Given the description of an element on the screen output the (x, y) to click on. 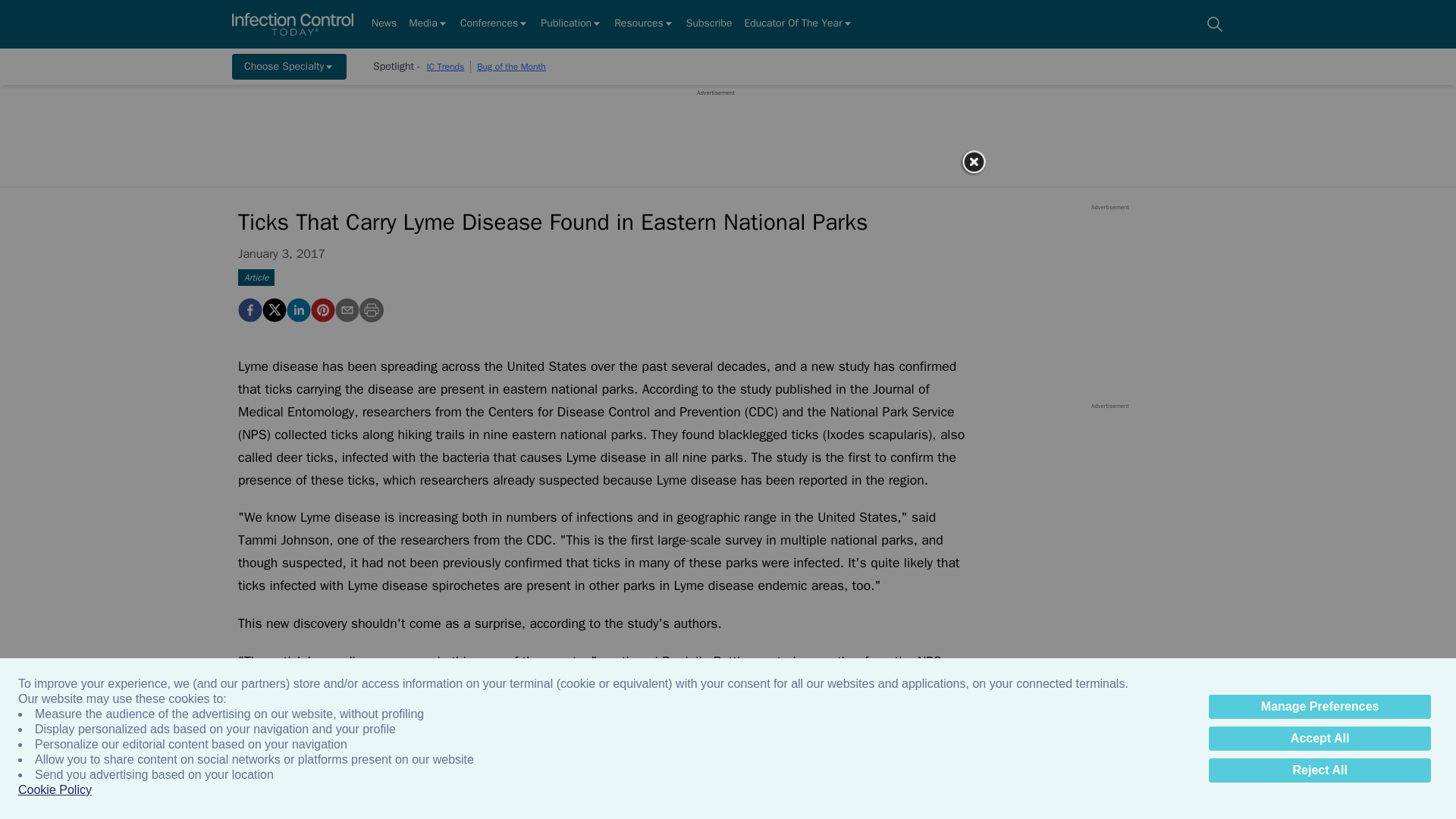
Cookie Policy (54, 789)
Conferences (494, 23)
Media (427, 23)
News (383, 23)
Educator Of The Year (797, 23)
Subscribe (708, 23)
Accept All (1319, 738)
Publication (571, 23)
3rd party ad content (715, 131)
Reject All (1319, 769)
